Given the description of an element on the screen output the (x, y) to click on. 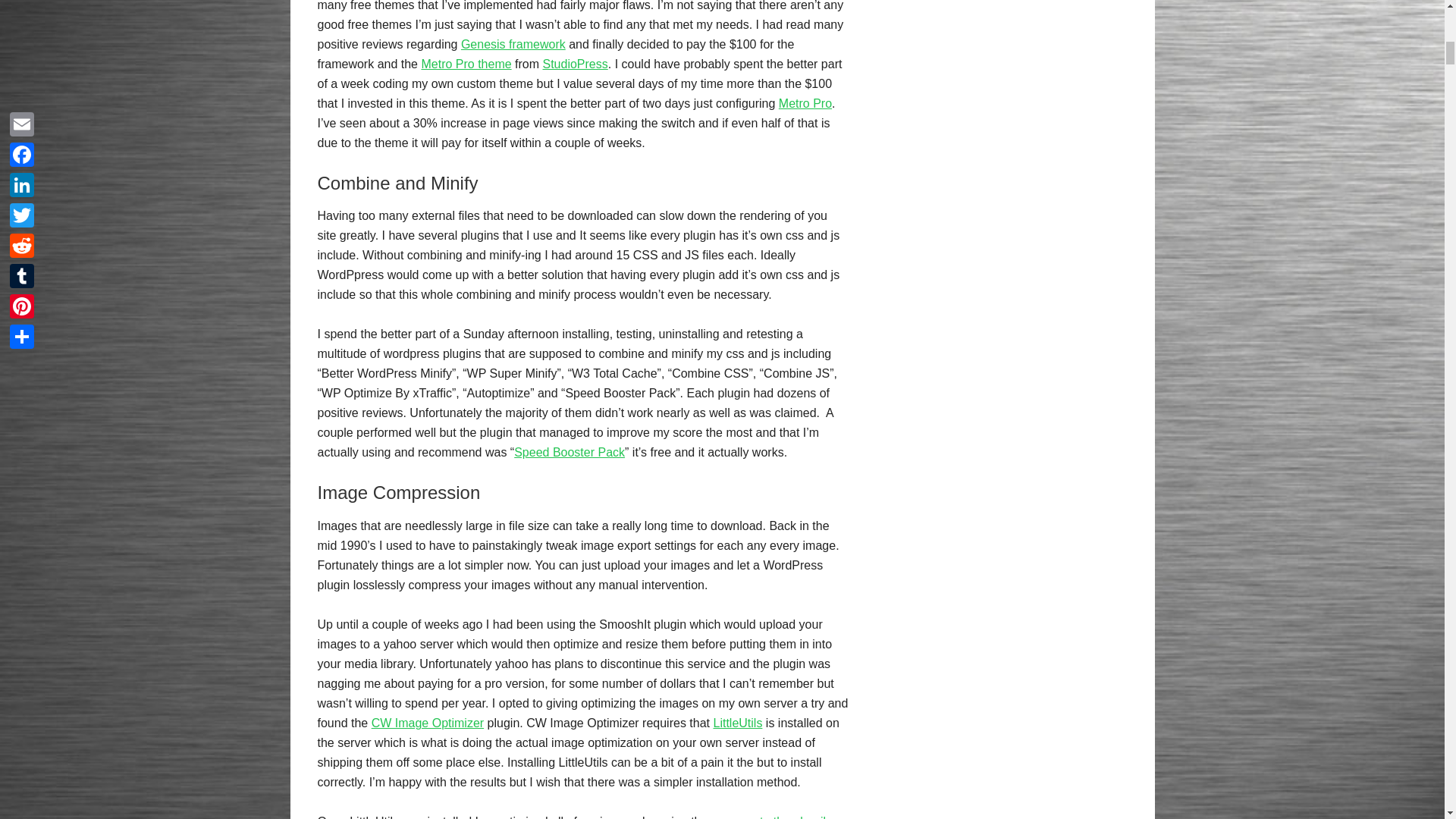
Metro Pro theme (465, 63)
StudioPress (575, 63)
CW Image Optimizer (427, 722)
Speed Booster Pack (568, 451)
Genesis framework (513, 43)
Metro Pro (804, 103)
LittleUtils (737, 722)
